Given the description of an element on the screen output the (x, y) to click on. 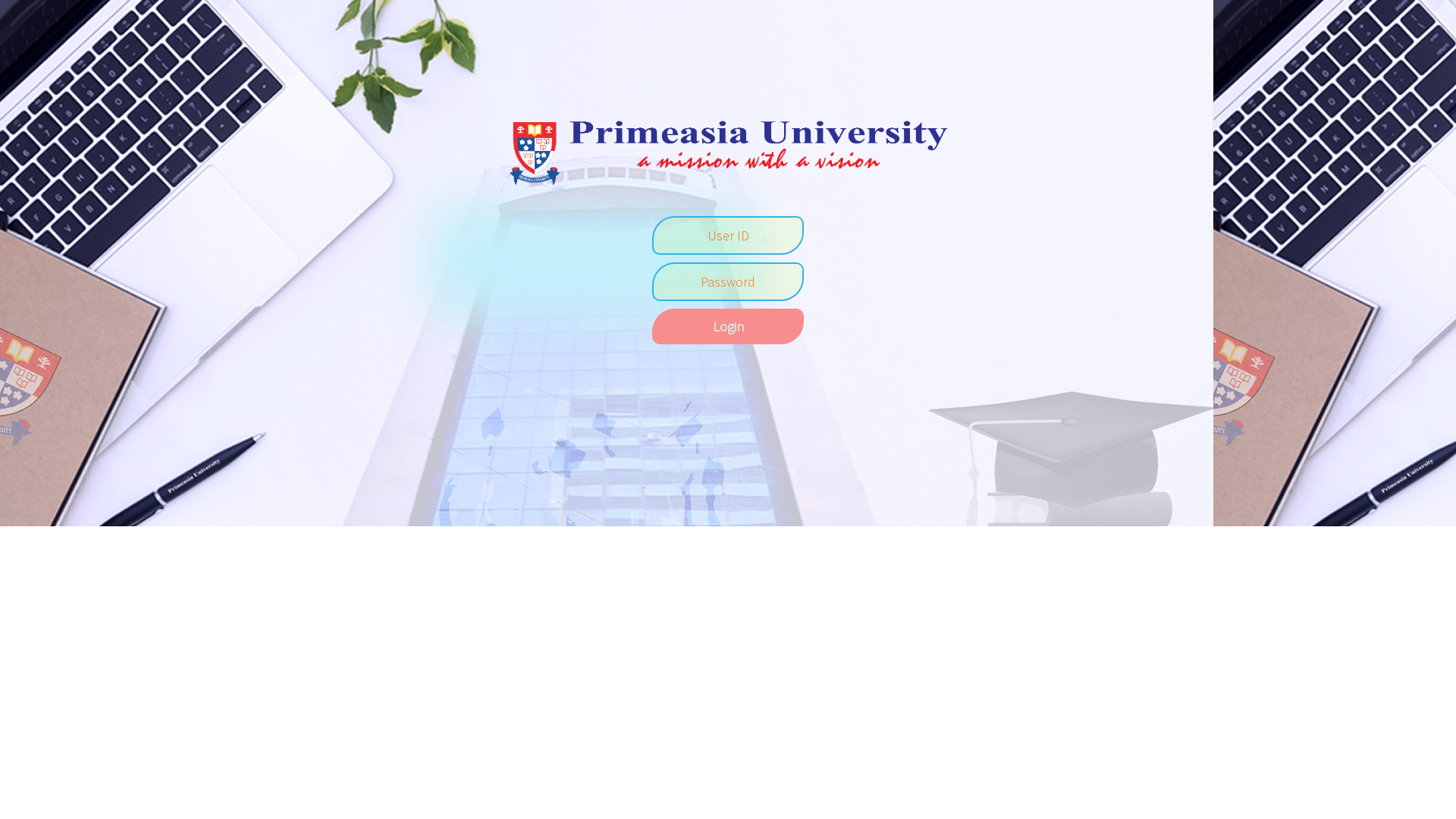
Login Element type: text (727, 326)
